Given the description of an element on the screen output the (x, y) to click on. 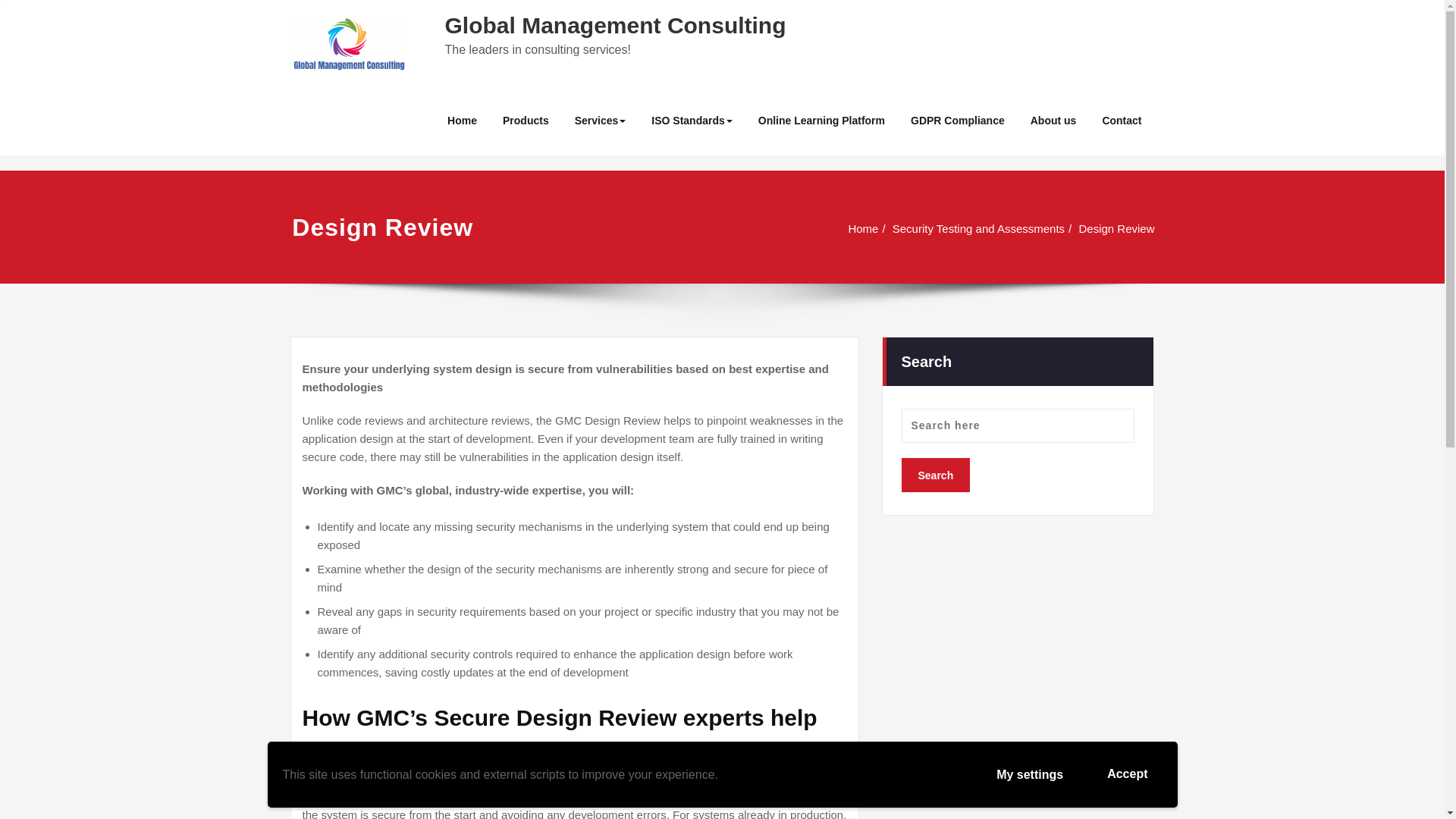
My settings (1029, 774)
About us (1053, 120)
Services (600, 120)
Global Management Consulting (615, 25)
Online Learning Platform (821, 120)
Home (461, 120)
Security Testing and Assessments (979, 228)
Home (866, 228)
Search (935, 474)
Search (935, 474)
Contact (1121, 120)
Design Review (1118, 228)
Search (935, 472)
Accept (1127, 774)
